Given the description of an element on the screen output the (x, y) to click on. 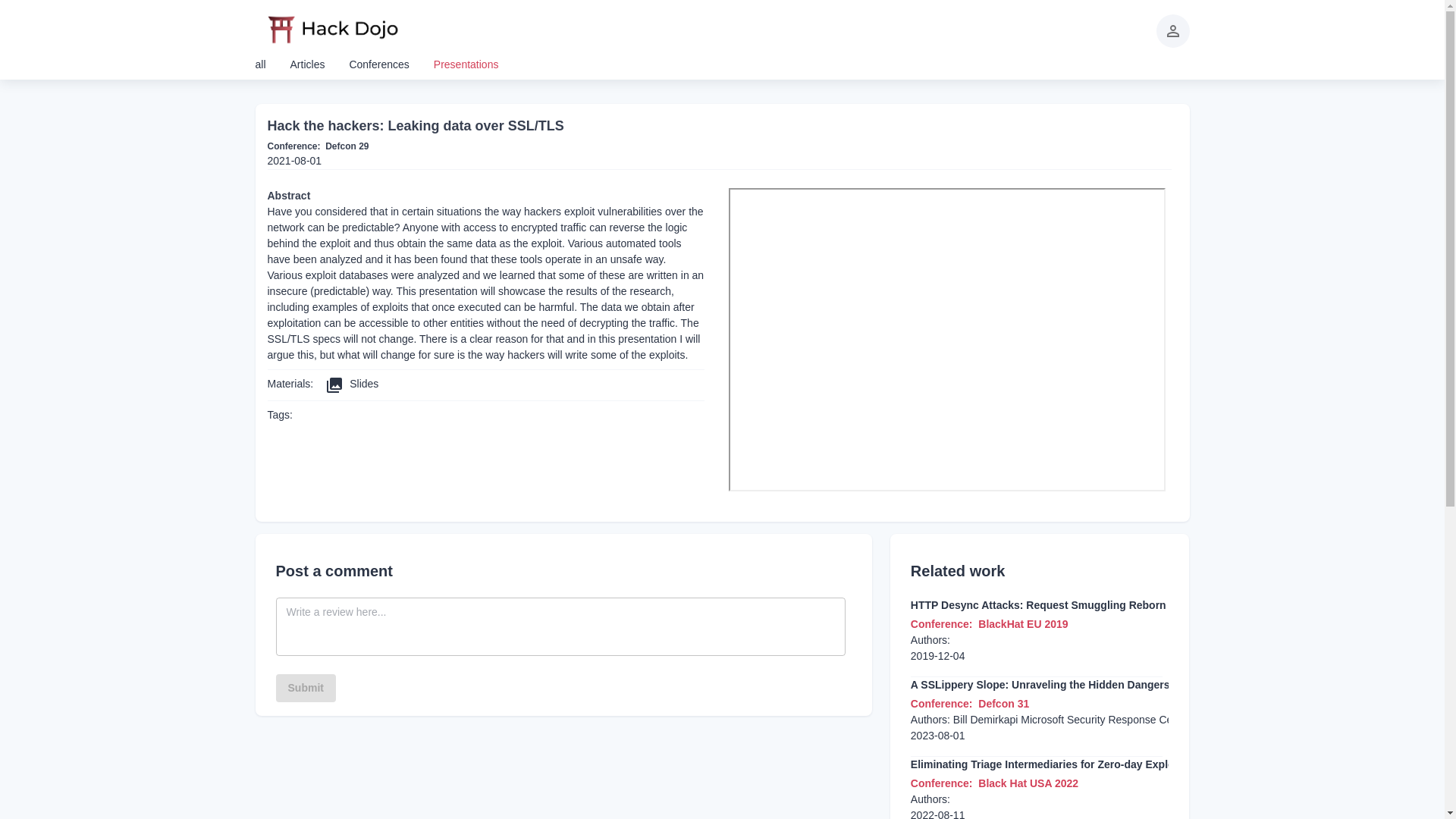
Conferences (379, 64)
Submit (306, 687)
Presentations (466, 64)
Slides (351, 384)
Defcon 31 (1003, 703)
Defcon 29 (346, 145)
Black Hat USA 2022 (1028, 783)
HTTP Desync Attacks: Request Smuggling Reborn (1038, 605)
HTTP Desync Attacks: Request Smuggling Reborn (1038, 605)
Articles (306, 64)
BlackHat EU 2019 (1022, 623)
